Given the description of an element on the screen output the (x, y) to click on. 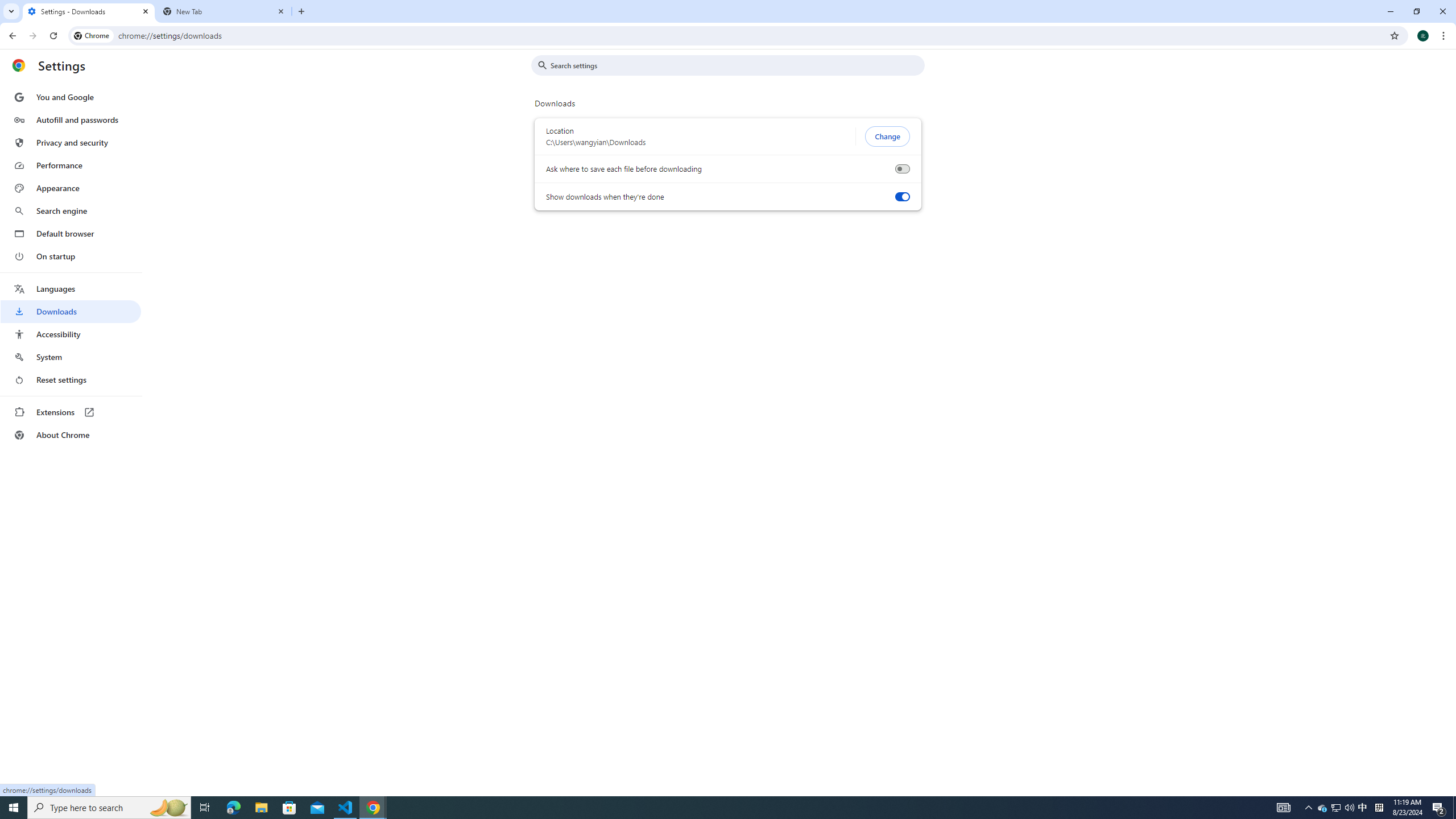
Reset settings (70, 379)
Extensions (70, 412)
Accessibility (70, 333)
Downloads (70, 311)
AutomationID: menu (71, 265)
New Tab (224, 11)
